Given the description of an element on the screen output the (x, y) to click on. 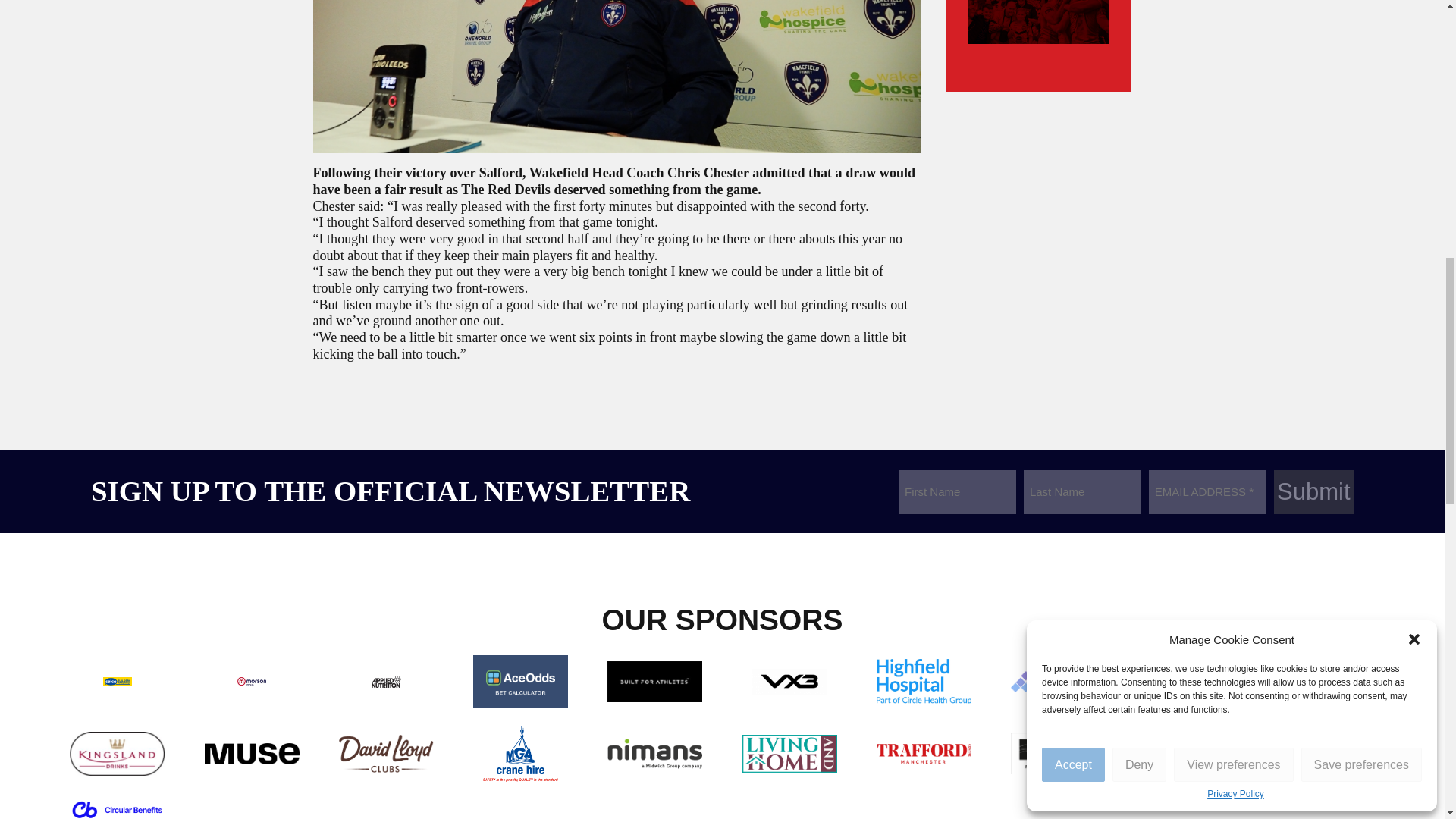
Submit (1314, 492)
Hero Tile-1 (1038, 22)
Screen-Shot-2018-02-10-at-12.20.03-1 (616, 76)
